Given the description of an element on the screen output the (x, y) to click on. 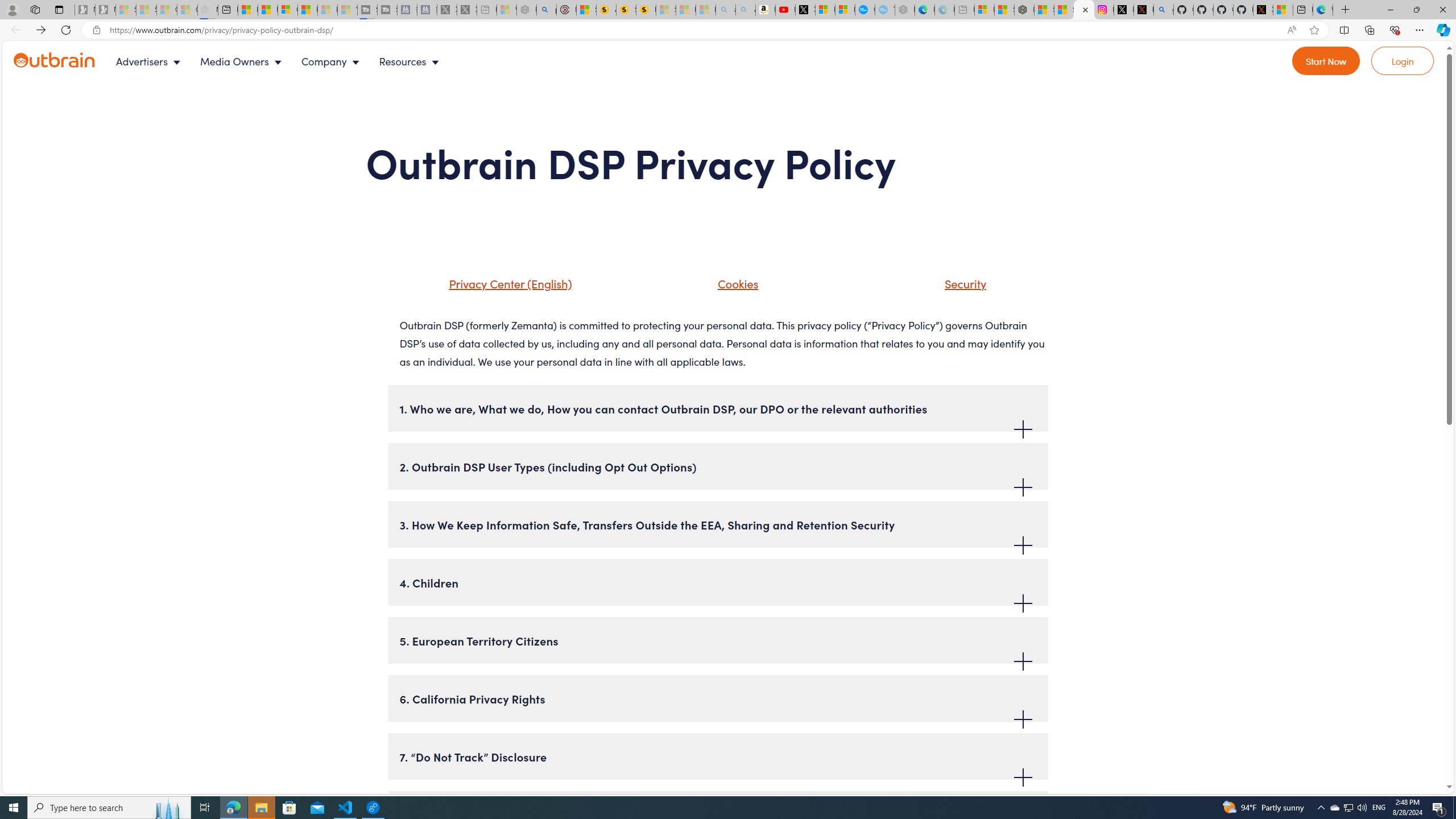
Forward (40, 29)
Welcome to Microsoft Edge (1322, 9)
The most popular Google 'how to' searches - Sleeping (884, 9)
Nordace - Summer Adventures 2024 - Sleeping (526, 9)
Shanghai, China Weather trends | Microsoft Weather (1063, 9)
Privacy Center (English) (495, 287)
Wildlife - MSN - Sleeping (506, 9)
